Given the description of an element on the screen output the (x, y) to click on. 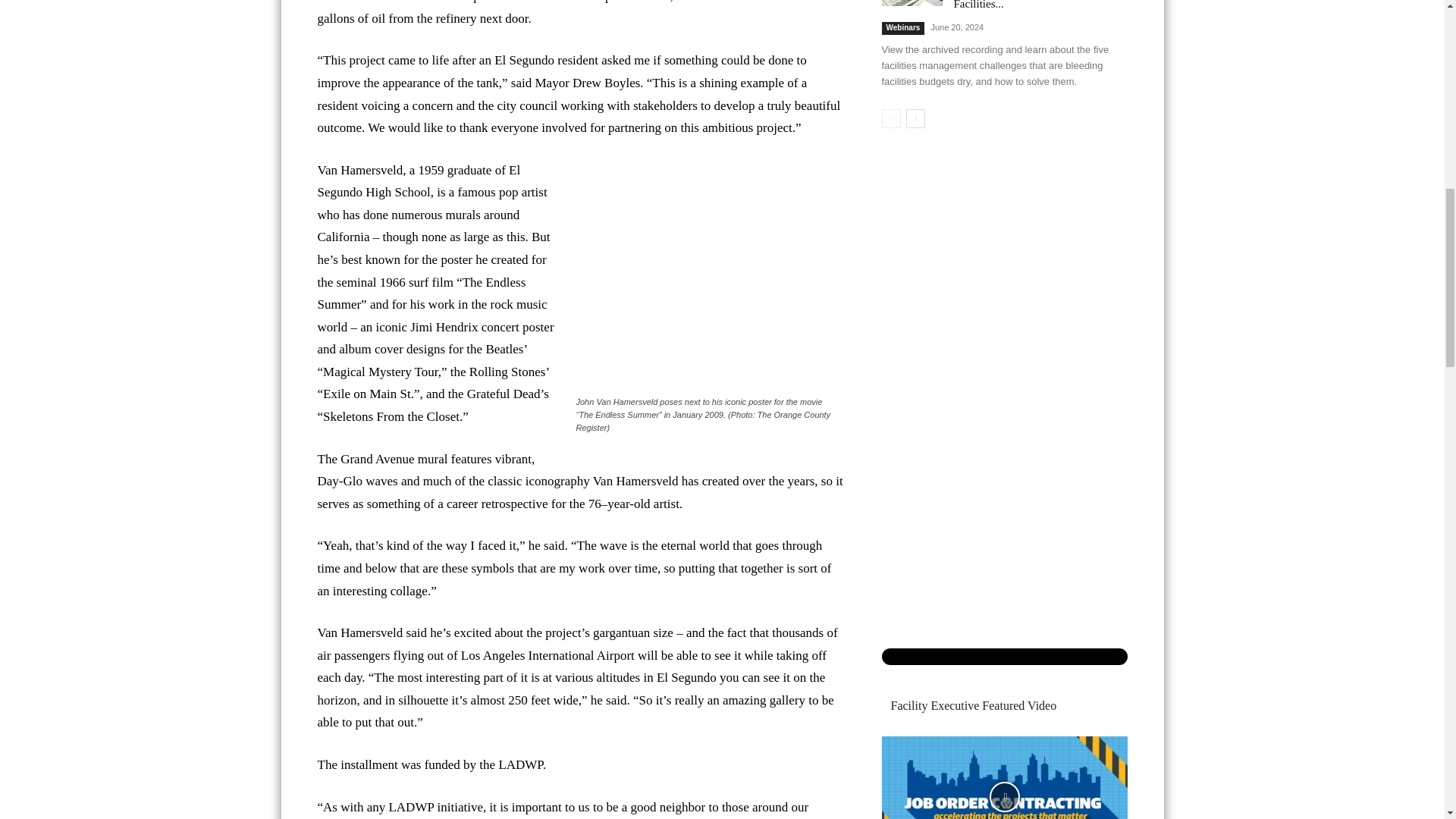
3rd party ad content (721, 38)
